Given the description of an element on the screen output the (x, y) to click on. 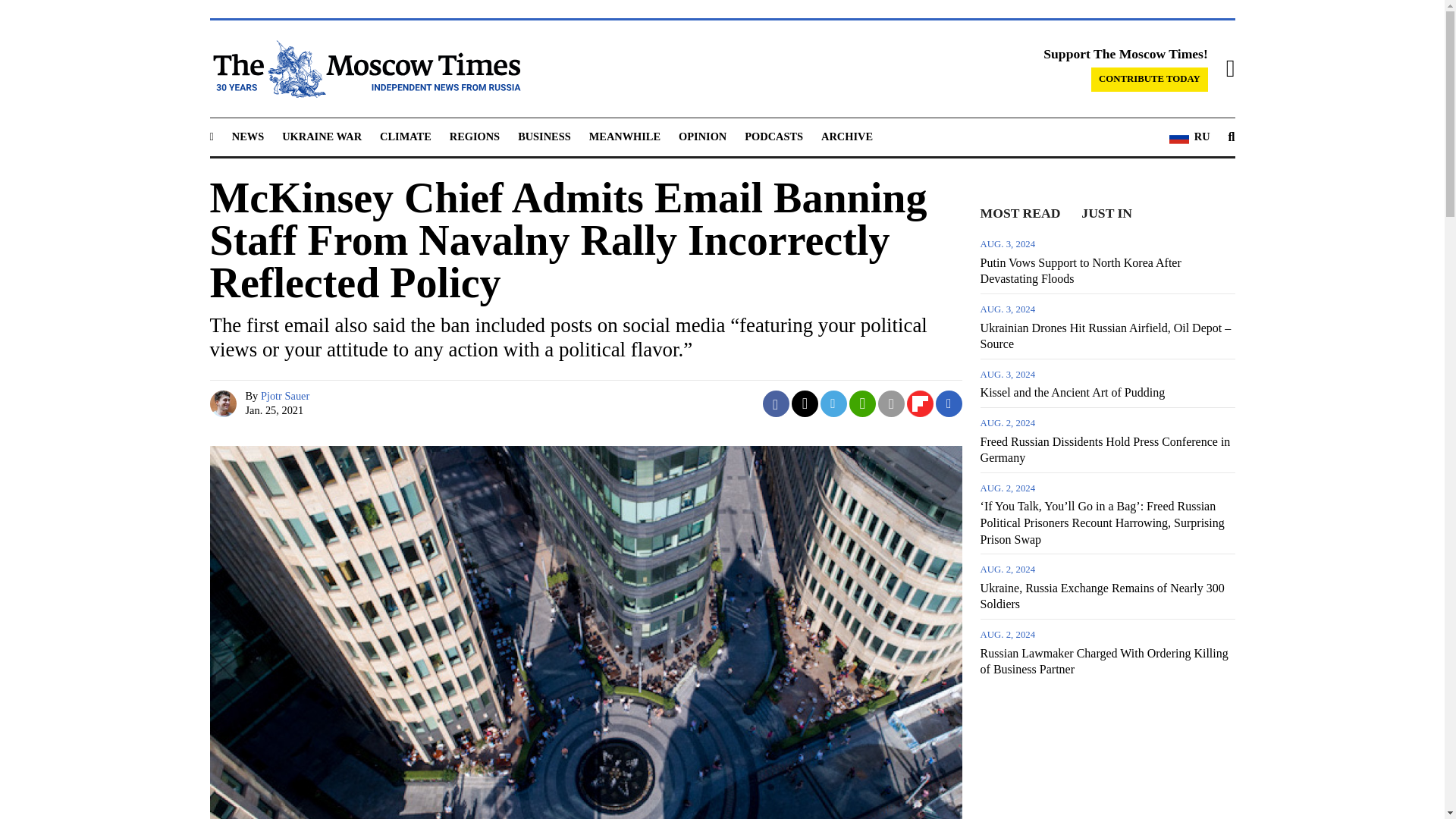
PODCASTS (773, 136)
ARCHIVE (846, 136)
BUSINESS (544, 136)
RU (1189, 137)
NEWS (247, 136)
Share on Flipboard (920, 403)
Share on Telegram (834, 403)
REGIONS (474, 136)
Share on Twitter (805, 403)
OPINION (702, 136)
UKRAINE WAR (321, 136)
CONTRIBUTE TODAY (1149, 79)
The Moscow Times - Independent News from Russia (364, 68)
CLIMATE (405, 136)
MEANWHILE (625, 136)
